Given the description of an element on the screen output the (x, y) to click on. 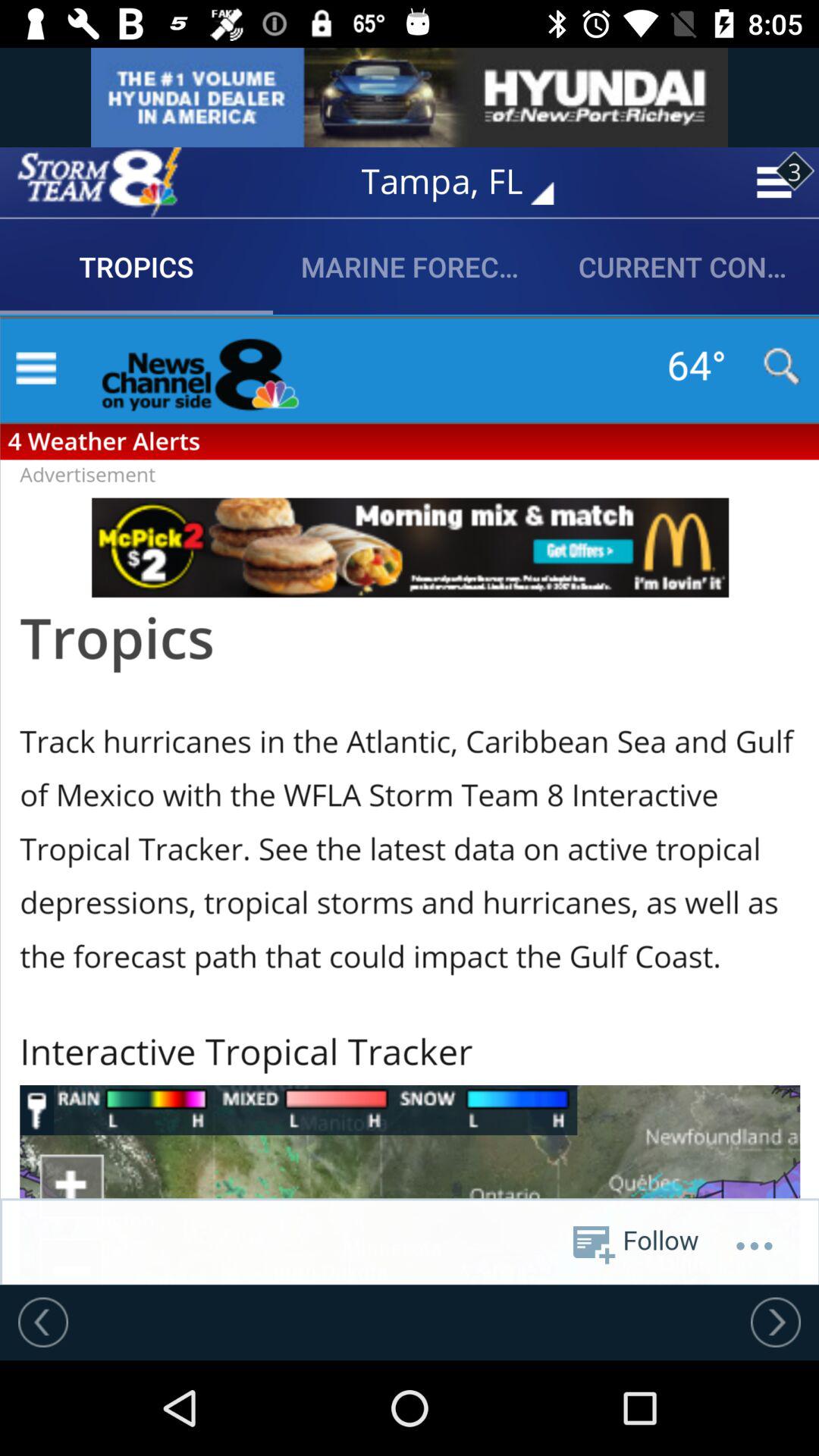
tropics in screen (409, 799)
